Given the description of an element on the screen output the (x, y) to click on. 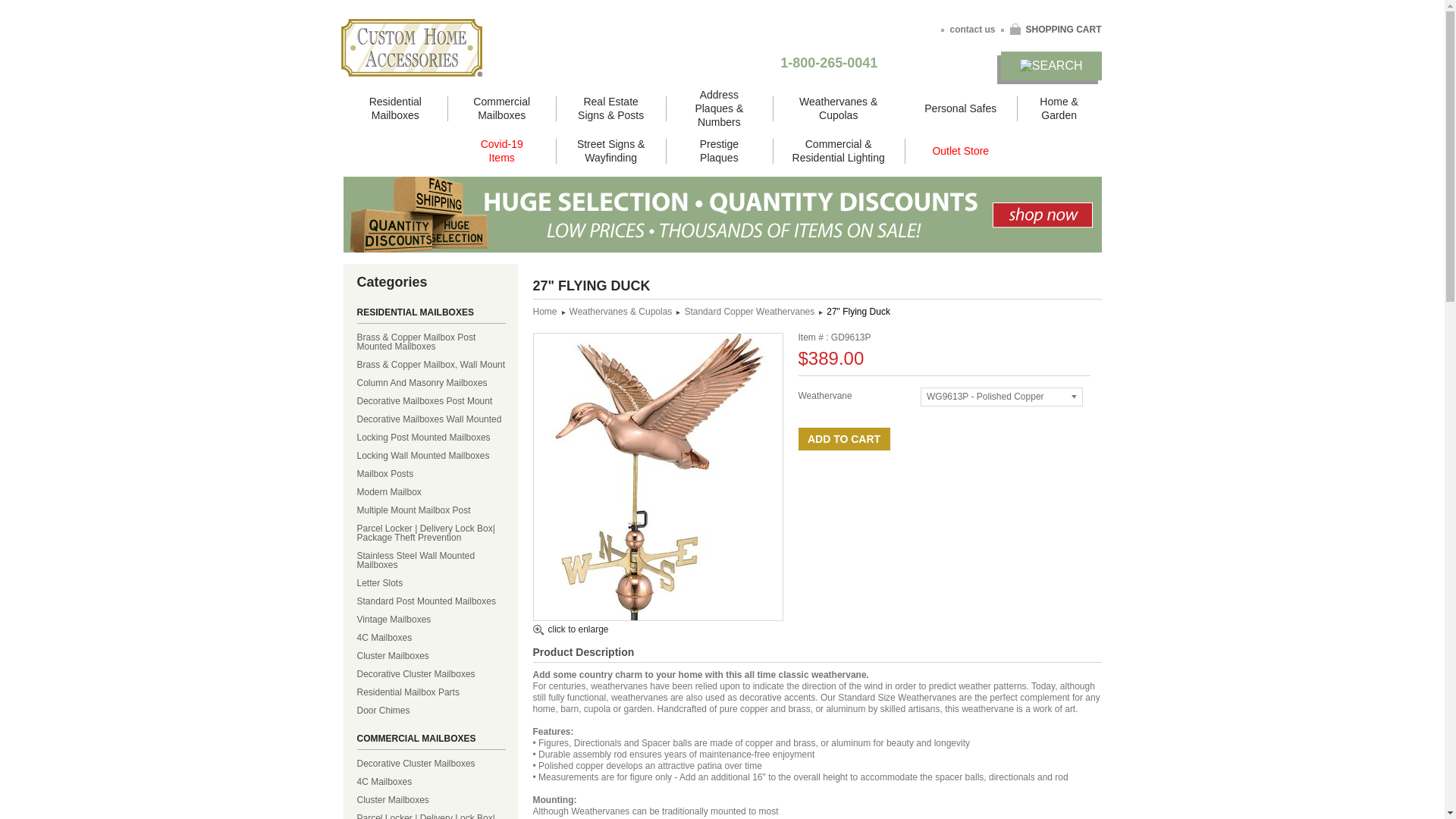
Locking Post Mounted Mailboxes (430, 433)
Column And Masonry Mailboxes (430, 378)
Multiple Mount Mailbox Post (430, 505)
Outlet Store (960, 150)
Decorative Mailboxes Wall Mounted (430, 414)
Prestige Plaques (719, 150)
Decorative Mailboxes Post Mount (430, 396)
Stainless Steel Wall Mounted Mailboxes (430, 555)
Modern Mailbox (430, 487)
SHOPPING CART (1050, 29)
Mailboxes.info (410, 47)
Commercial and Residential Lighting (838, 150)
Mailbox Posts (430, 469)
Covid-19 Items (501, 150)
Decorative Cluster Mailboxes (430, 759)
